Given the description of an element on the screen output the (x, y) to click on. 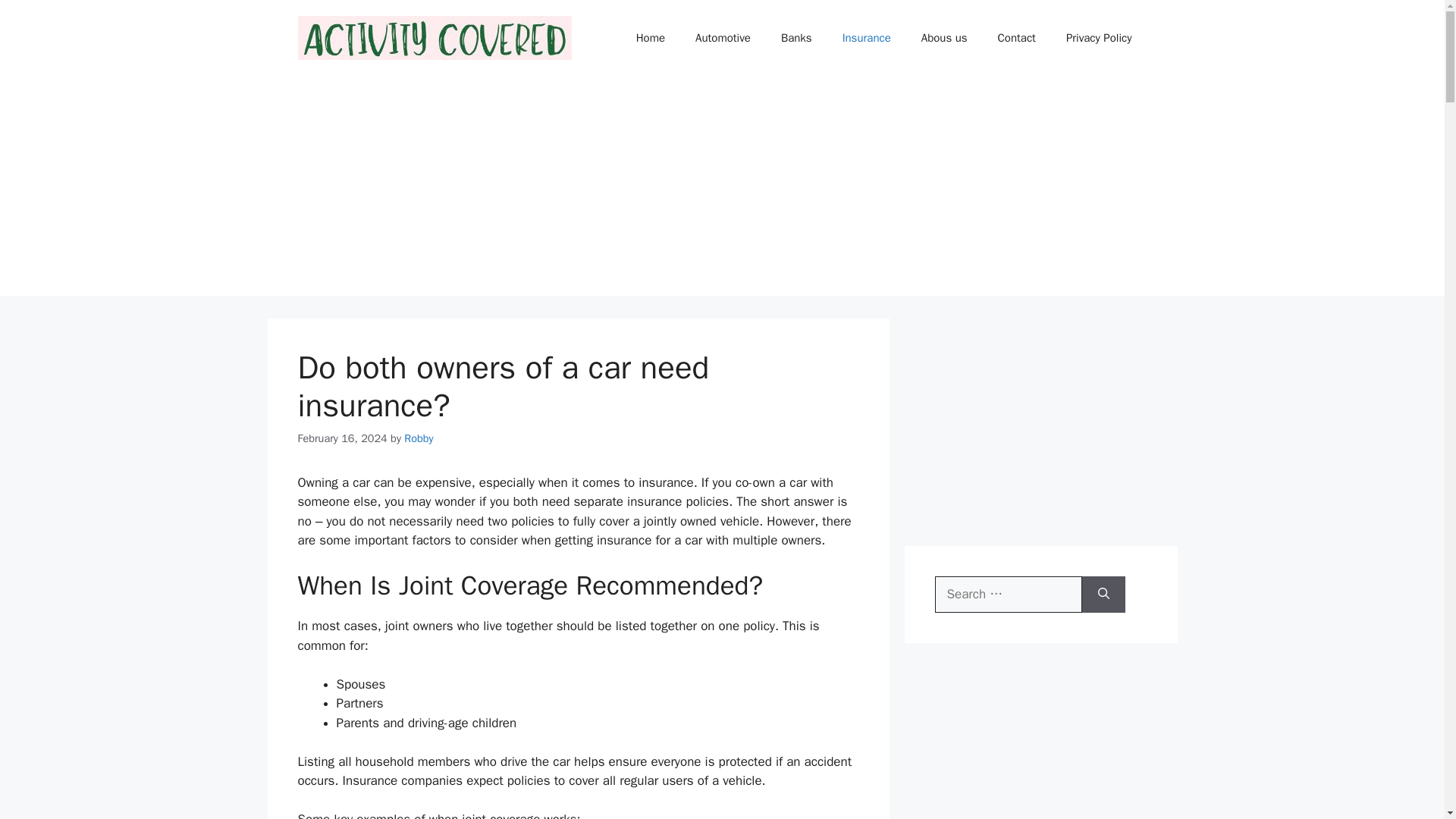
Banks (796, 37)
Insurance (866, 37)
View all posts by Robby (418, 438)
ACTIVITYCOVERED (433, 36)
Robby (418, 438)
Home (650, 37)
ACTIVITYCOVERED (433, 37)
Abous us (943, 37)
Automotive (722, 37)
